Given the description of an element on the screen output the (x, y) to click on. 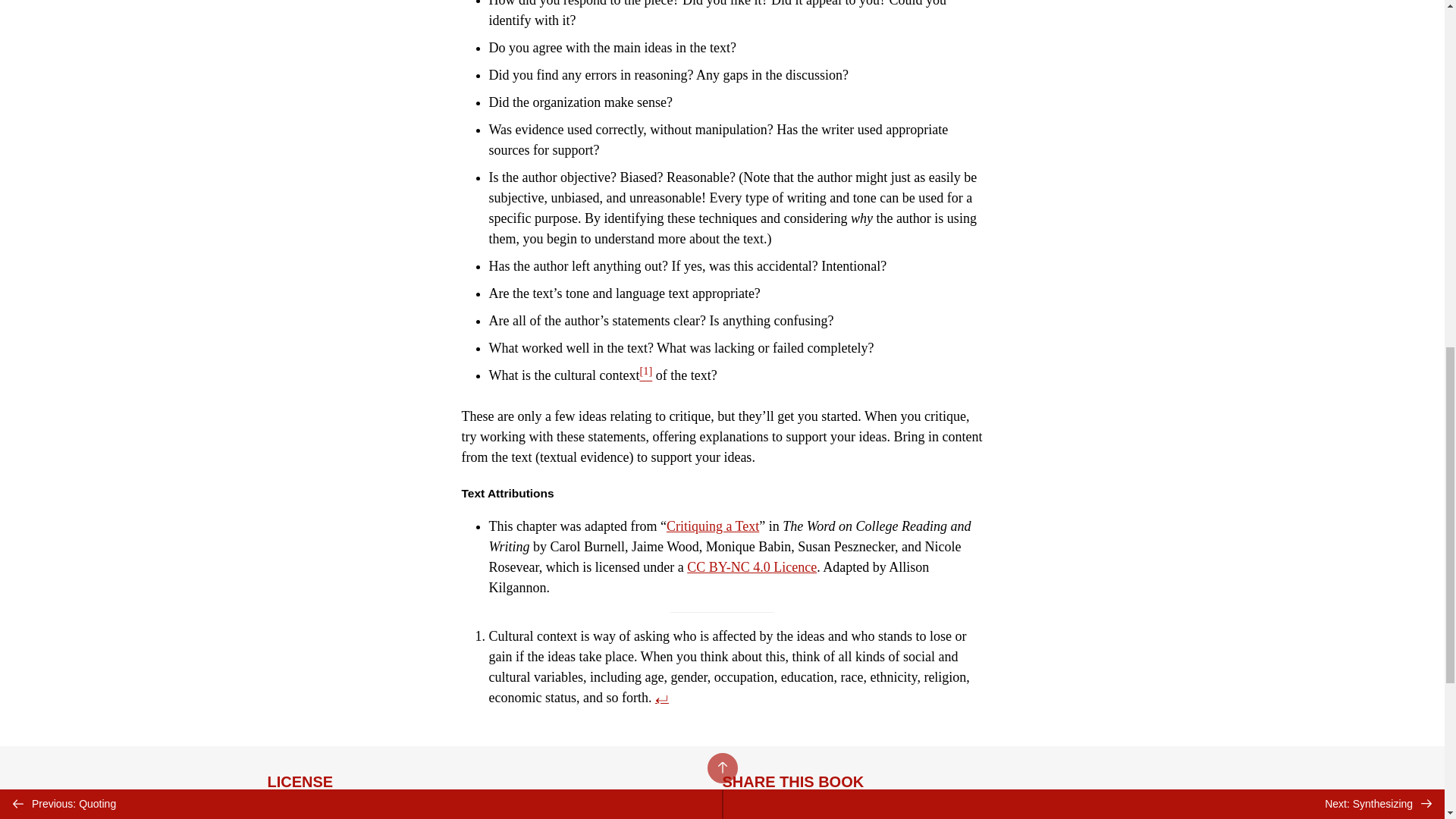
Share on Twitter (740, 812)
Critiquing a Text (712, 525)
Share on Twitter (740, 812)
CC BY-NC 4.0 Licence (751, 566)
